Given the description of an element on the screen output the (x, y) to click on. 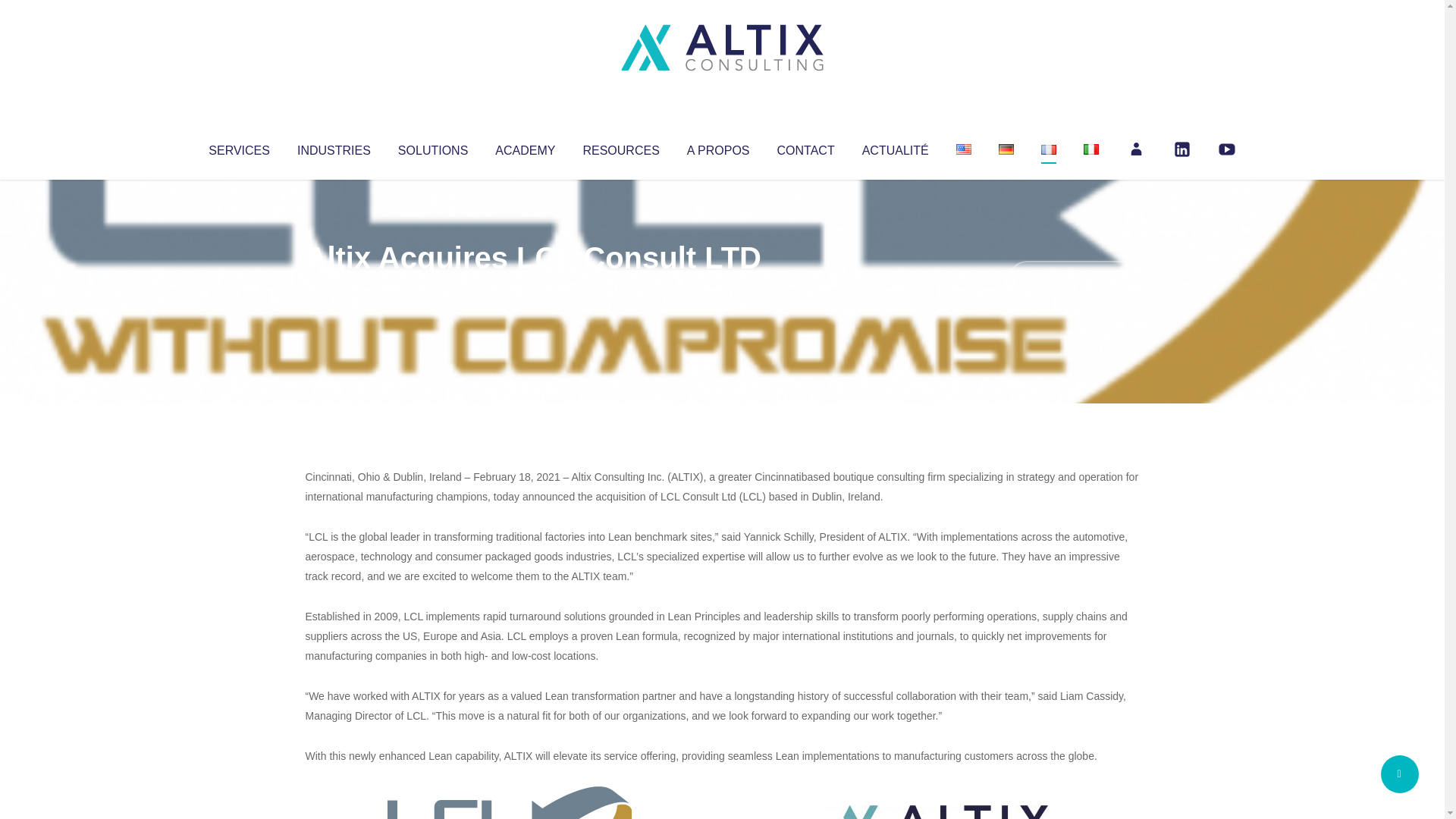
Articles par Altix (333, 287)
A PROPOS (718, 146)
INDUSTRIES (334, 146)
RESOURCES (620, 146)
Uncategorized (530, 287)
Altix (333, 287)
No Comments (1073, 278)
ACADEMY (524, 146)
SERVICES (238, 146)
SOLUTIONS (432, 146)
